Given the description of an element on the screen output the (x, y) to click on. 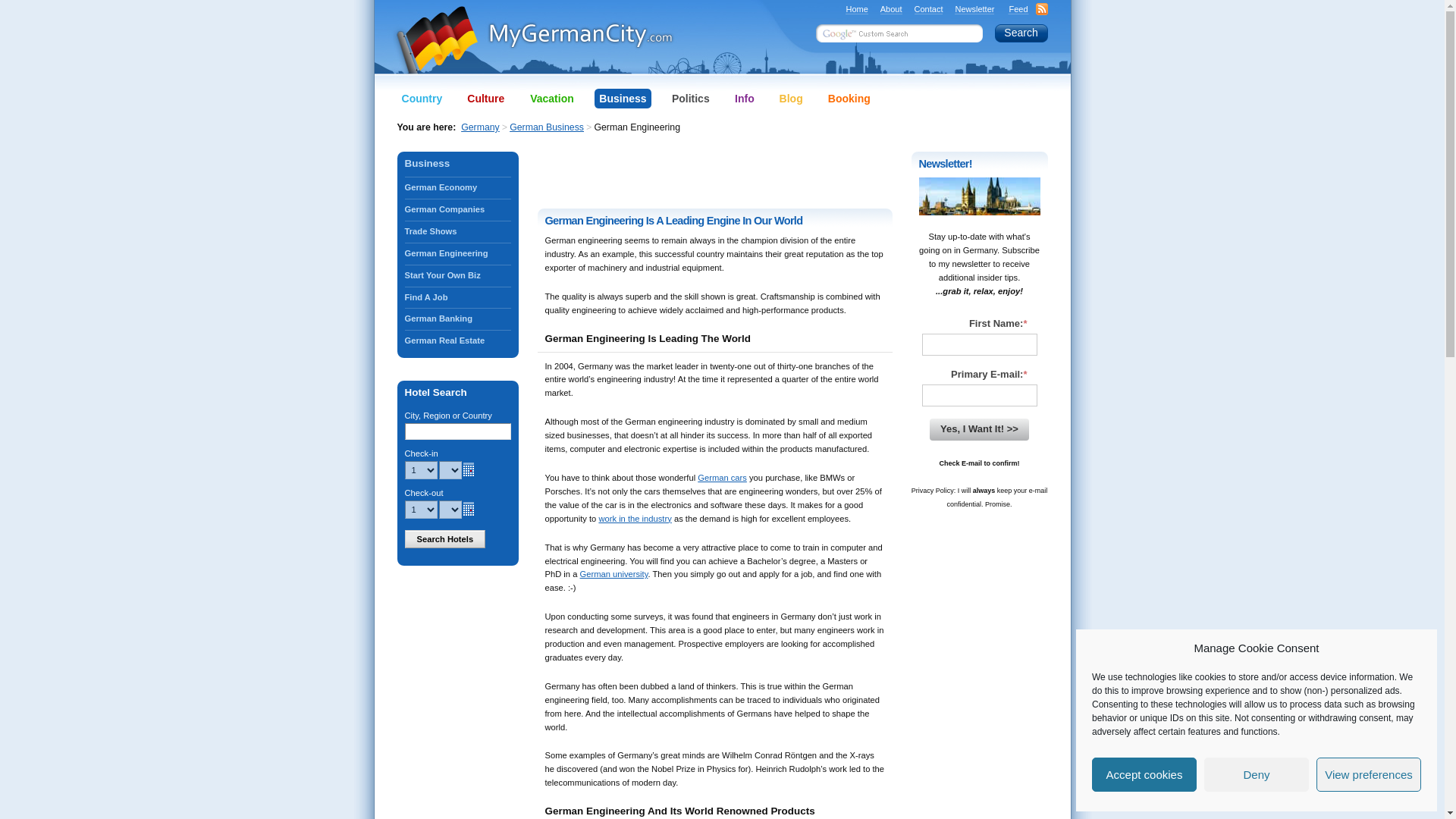
German Banking (457, 318)
Contact (928, 9)
Deny (1256, 774)
German cars (721, 477)
Trade Shows (457, 231)
Search (1021, 33)
German Economy (457, 187)
German Business (457, 163)
Start Your Own Biz (457, 275)
Home (856, 9)
German Engineering (457, 253)
About (891, 9)
German Companies (457, 209)
German Real Estate (457, 341)
Work In Germany (457, 297)
